Given the description of an element on the screen output the (x, y) to click on. 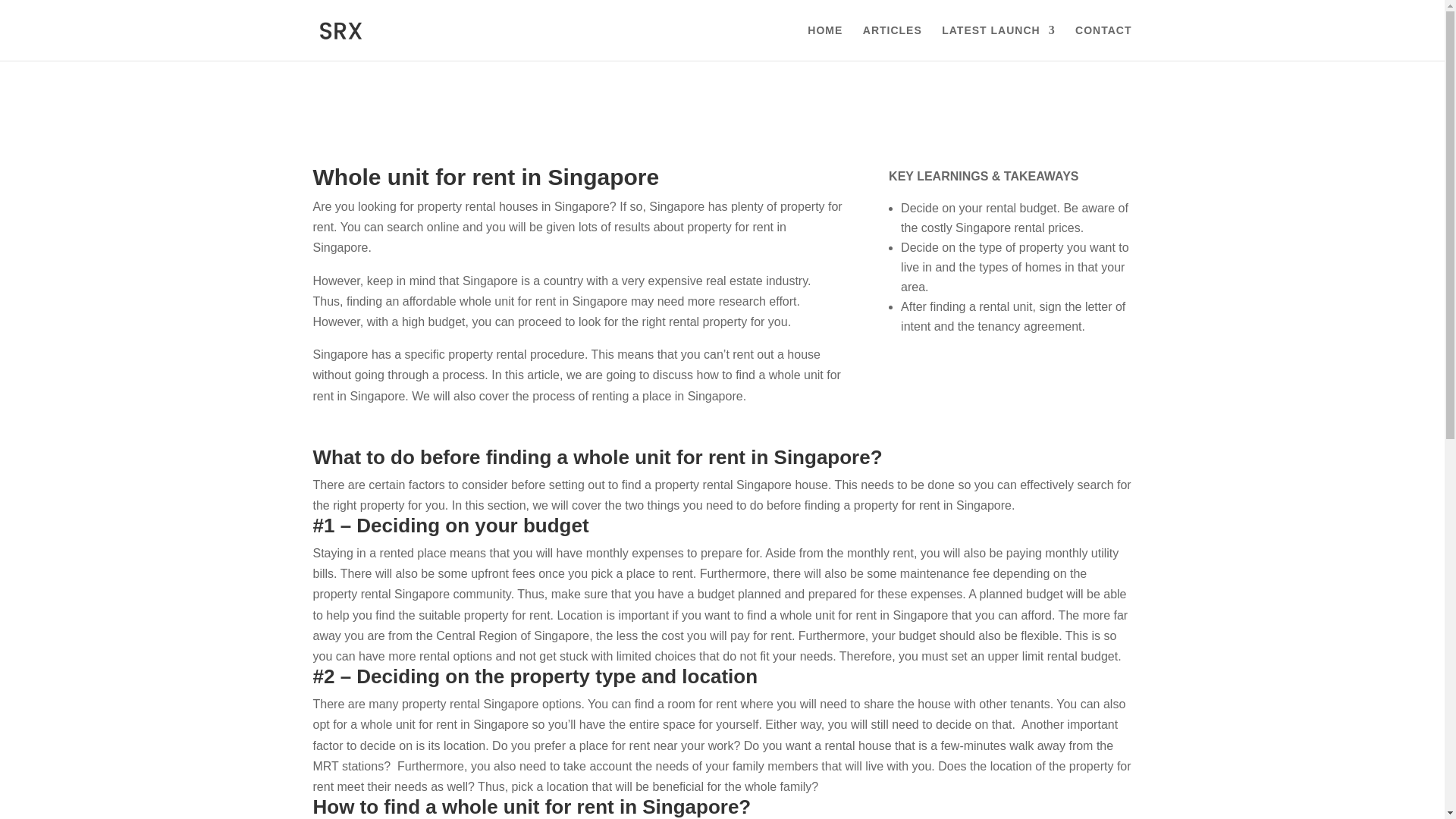
CONTACT (1103, 42)
LATEST LAUNCH (998, 42)
ARTICLES (892, 42)
HOME (825, 42)
